Given the description of an element on the screen output the (x, y) to click on. 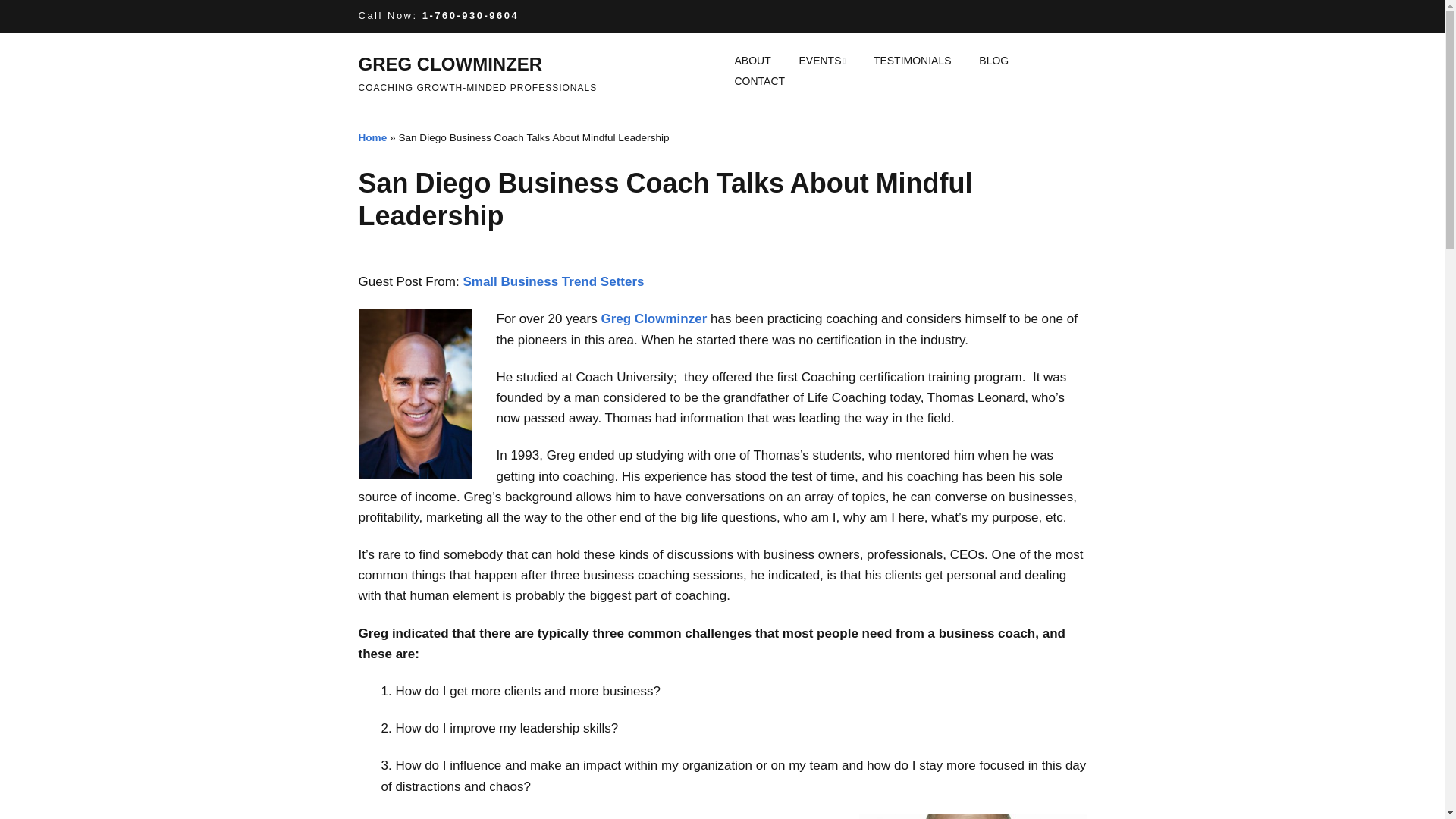
TESTIMONIALS (912, 61)
CONTACT (759, 81)
EVENTS (821, 61)
Greg Clowminzer (652, 318)
Home (372, 137)
ABOUT (752, 61)
GREG CLOWMINZER (449, 64)
Small Business Trend Setters (553, 281)
BLOG (993, 61)
1-760-930-9604 (470, 15)
